Given the description of an element on the screen output the (x, y) to click on. 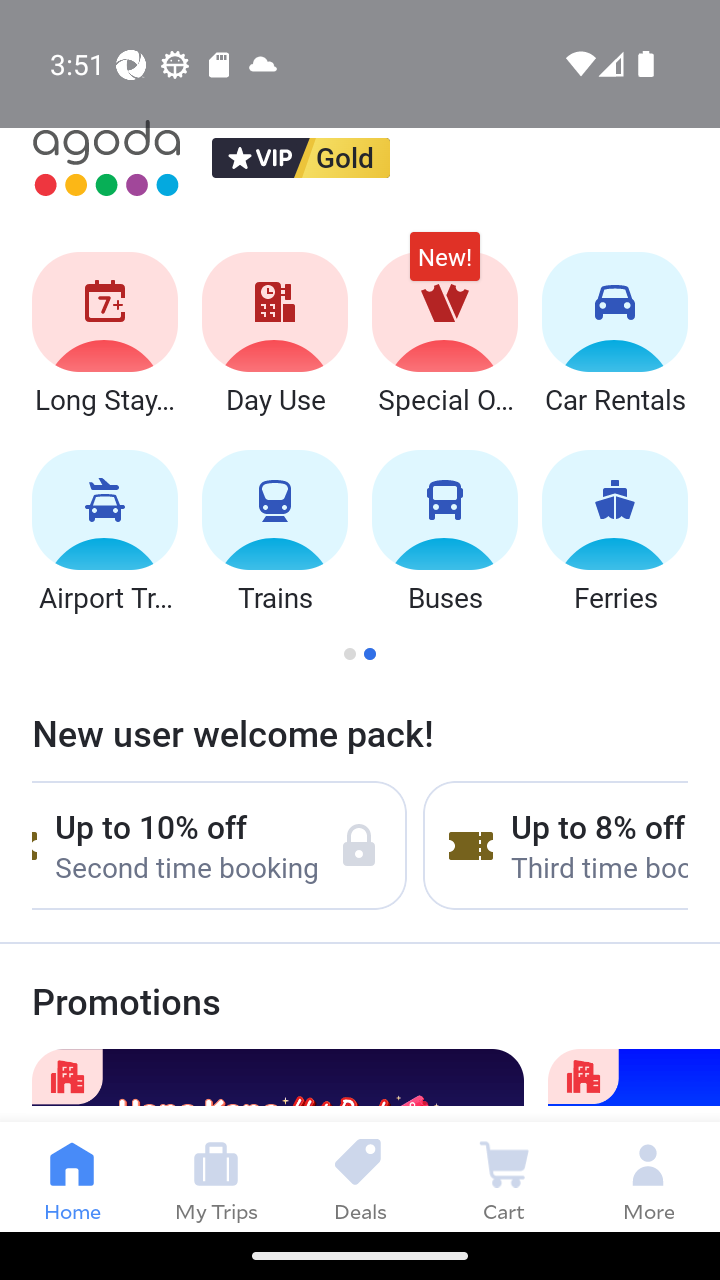
New! (444, 265)
Home (72, 1176)
My Trips (216, 1176)
Deals (360, 1176)
Cart (504, 1176)
More (648, 1176)
